Given the description of an element on the screen output the (x, y) to click on. 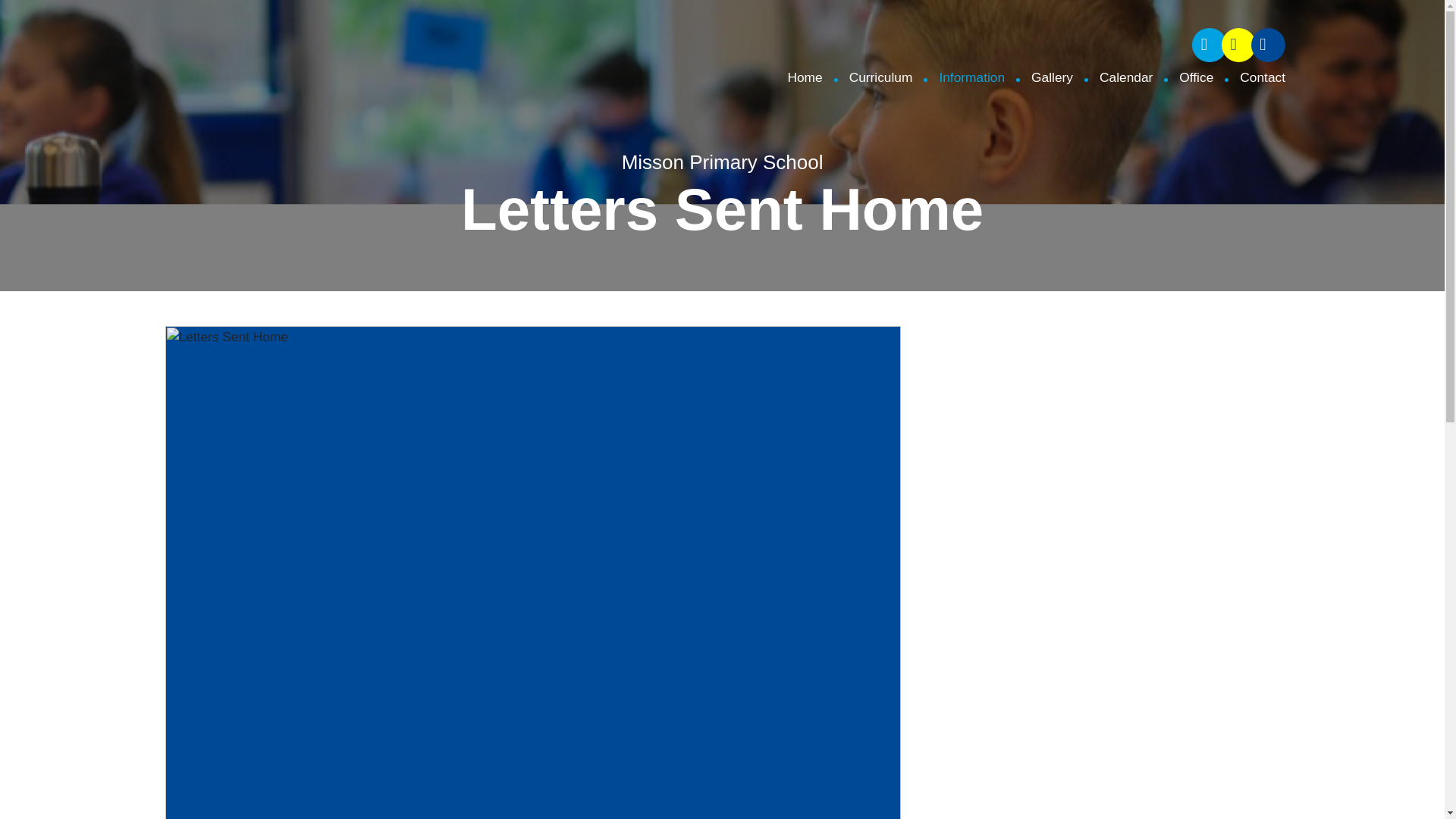
Gallery (1038, 77)
Calendar (1113, 77)
Information (958, 77)
Office (1182, 77)
Home (804, 77)
Contact (1248, 77)
Curriculum (867, 77)
